Given the description of an element on the screen output the (x, y) to click on. 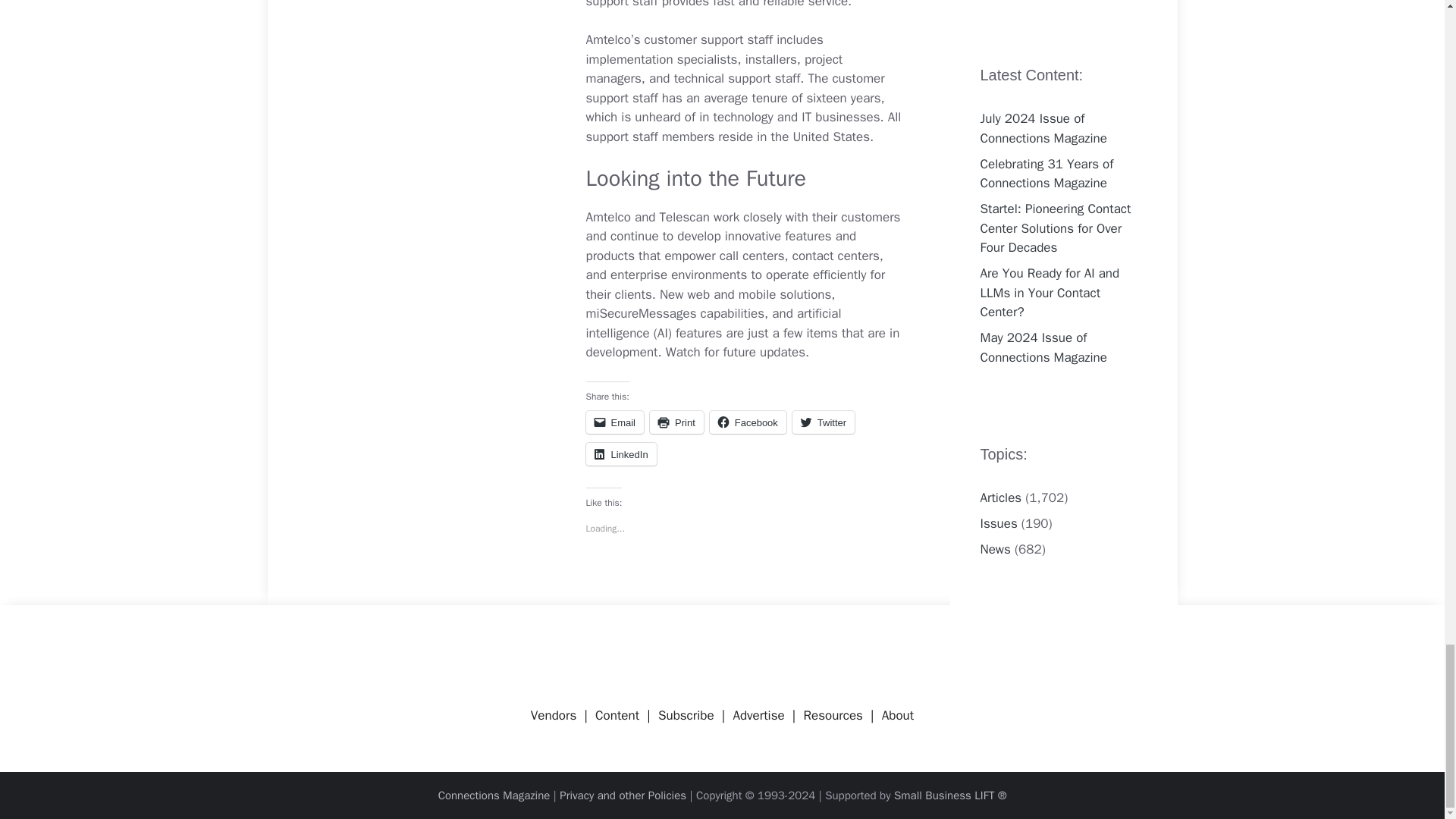
Click to email a link to a friend (614, 422)
Click to share on LinkedIn (620, 454)
Click to share on Facebook (748, 422)
Click to share on Twitter (823, 422)
Click to print (676, 422)
